Given the description of an element on the screen output the (x, y) to click on. 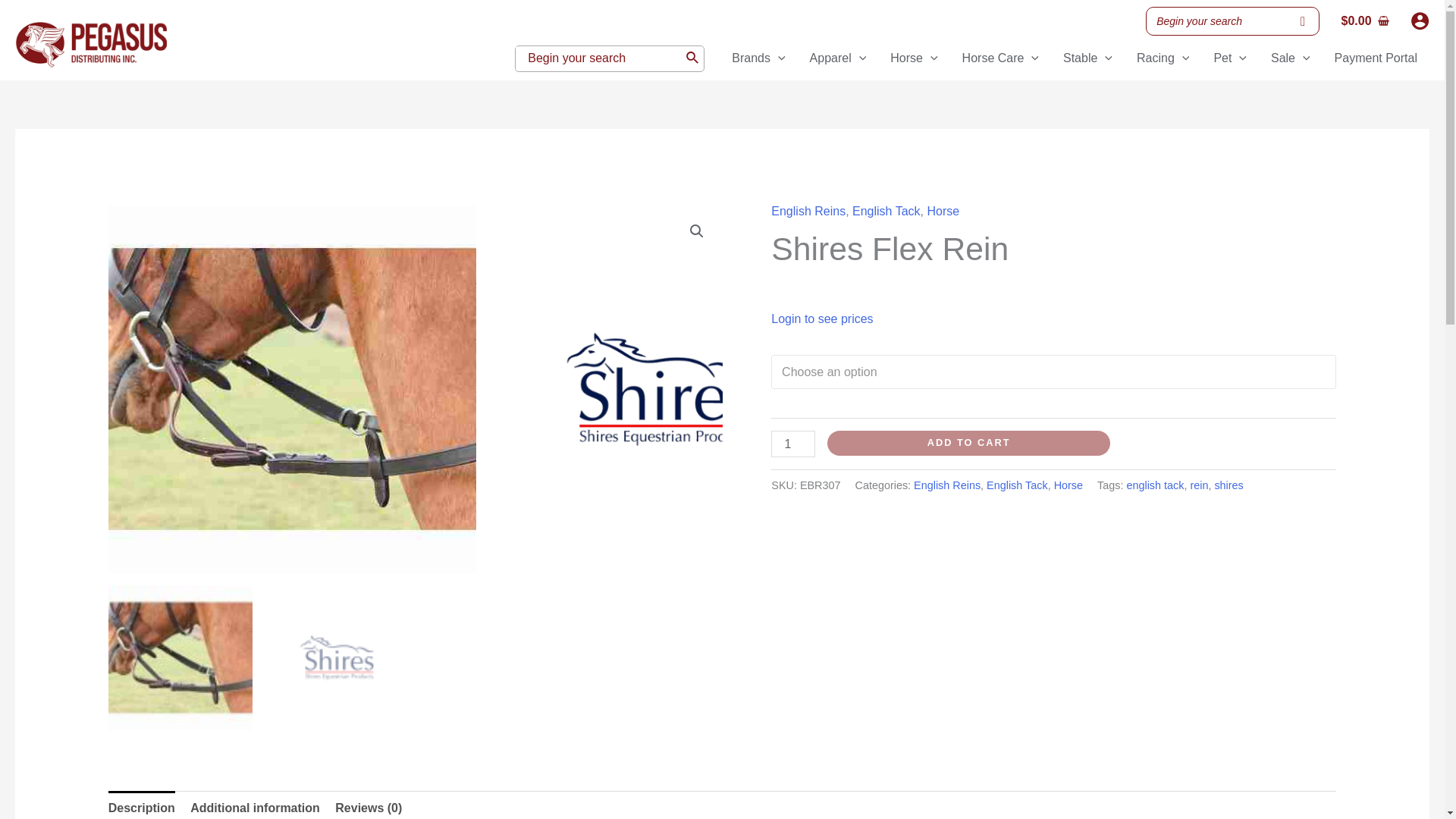
1 (793, 443)
Brands (757, 57)
Apparel (838, 57)
